Given the description of an element on the screen output the (x, y) to click on. 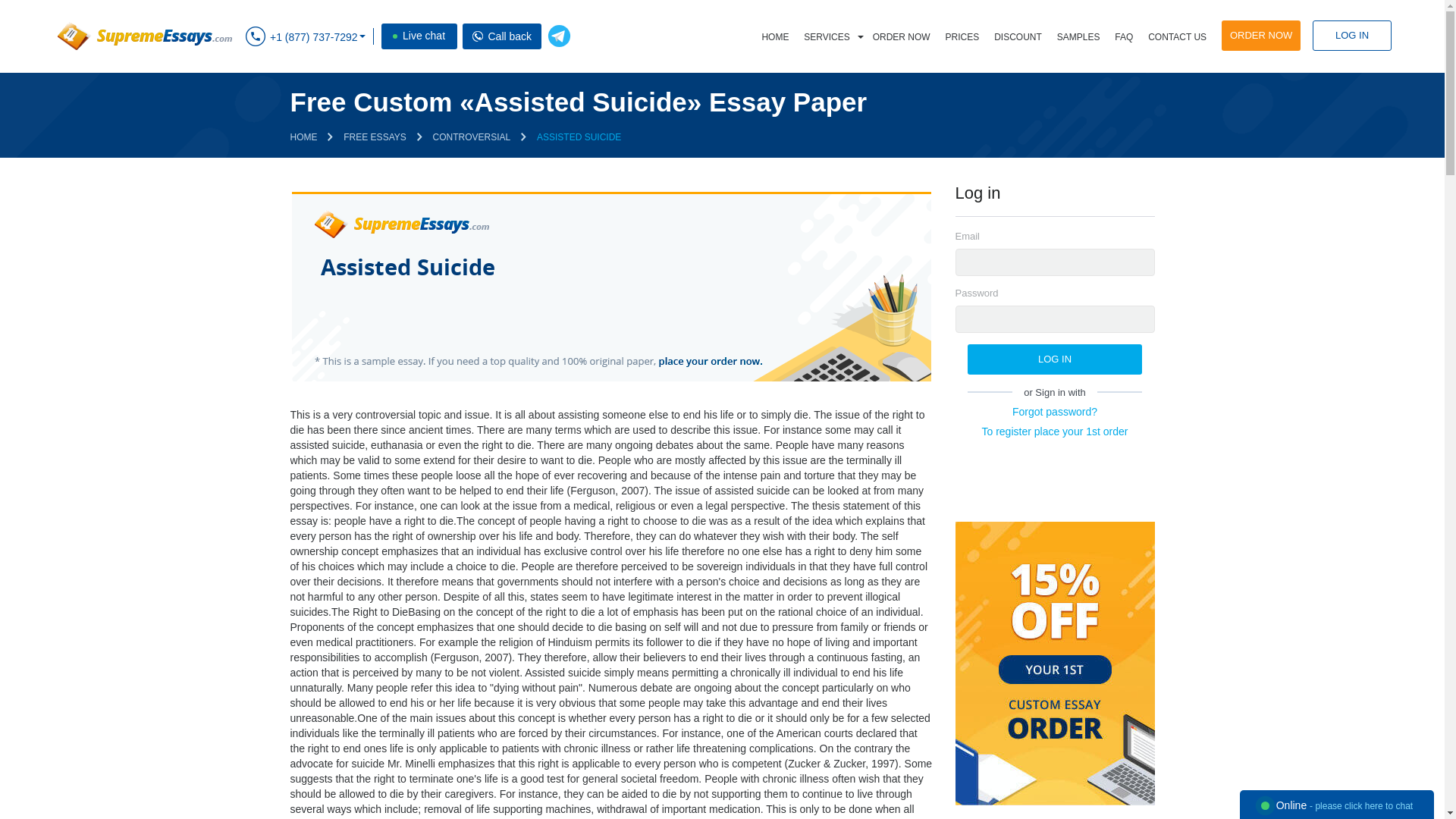
Call back (477, 36)
Assisted Suicide (610, 286)
CONTROVERSIAL (471, 136)
CONTACT US (1176, 36)
Supremeessays.com (143, 36)
SAMPLES (1078, 36)
HOME (303, 136)
FREE ESSAYS (374, 136)
FAQ (1123, 36)
DISCOUNT (1018, 36)
